Given the description of an element on the screen output the (x, y) to click on. 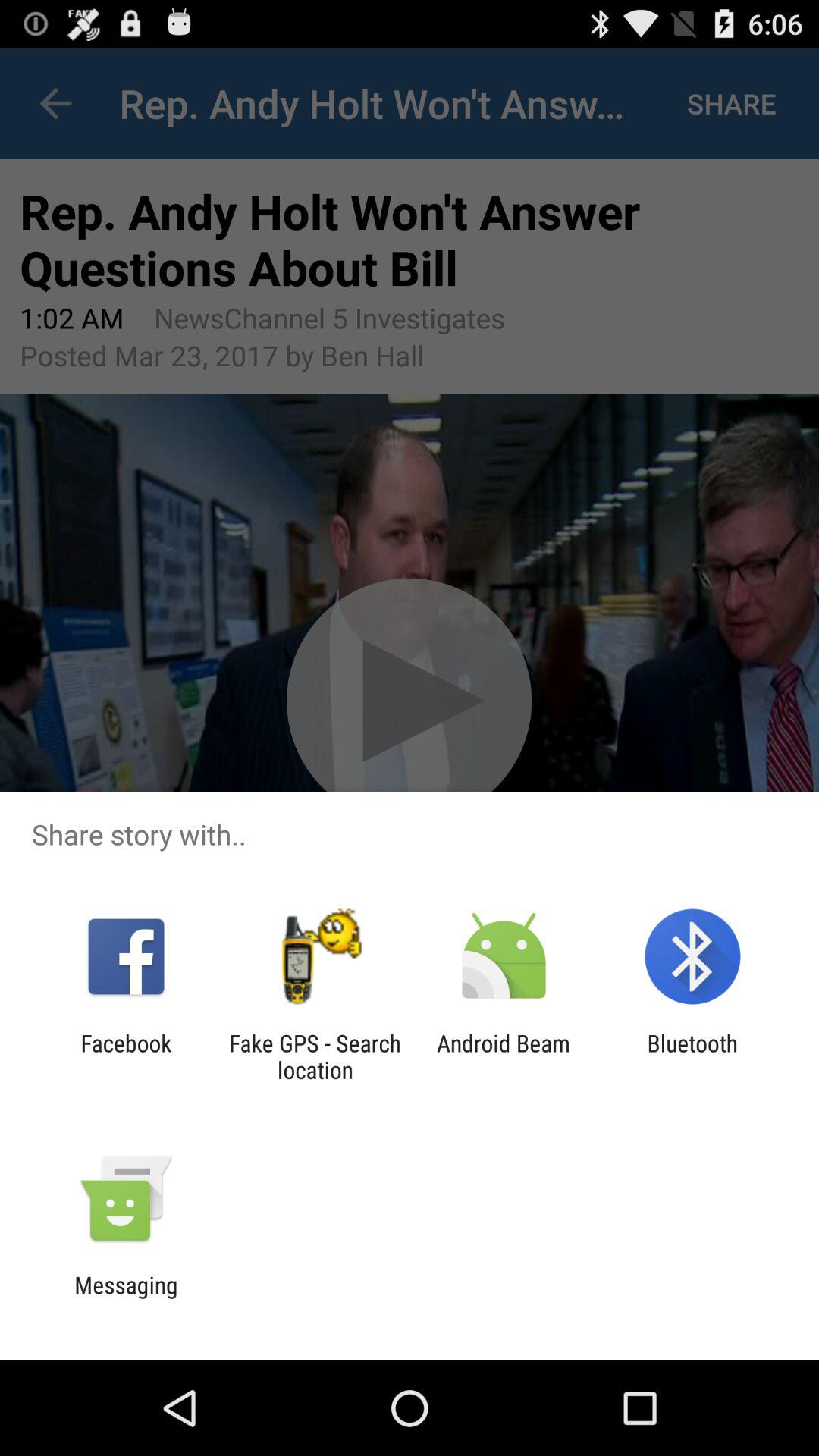
swipe until the android beam (503, 1056)
